Given the description of an element on the screen output the (x, y) to click on. 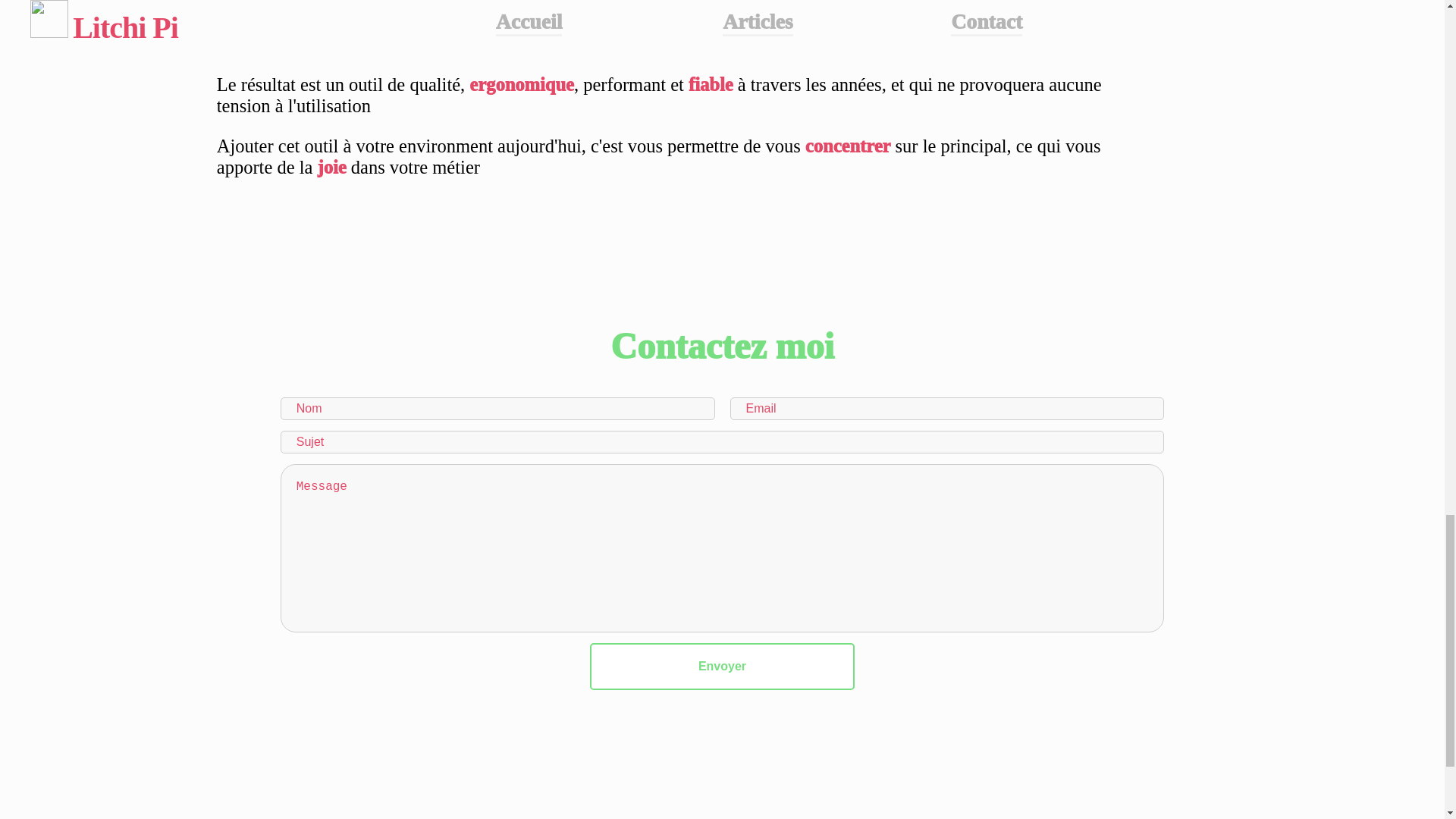
Envoyer (722, 666)
Envoyer (722, 666)
